Given the description of an element on the screen output the (x, y) to click on. 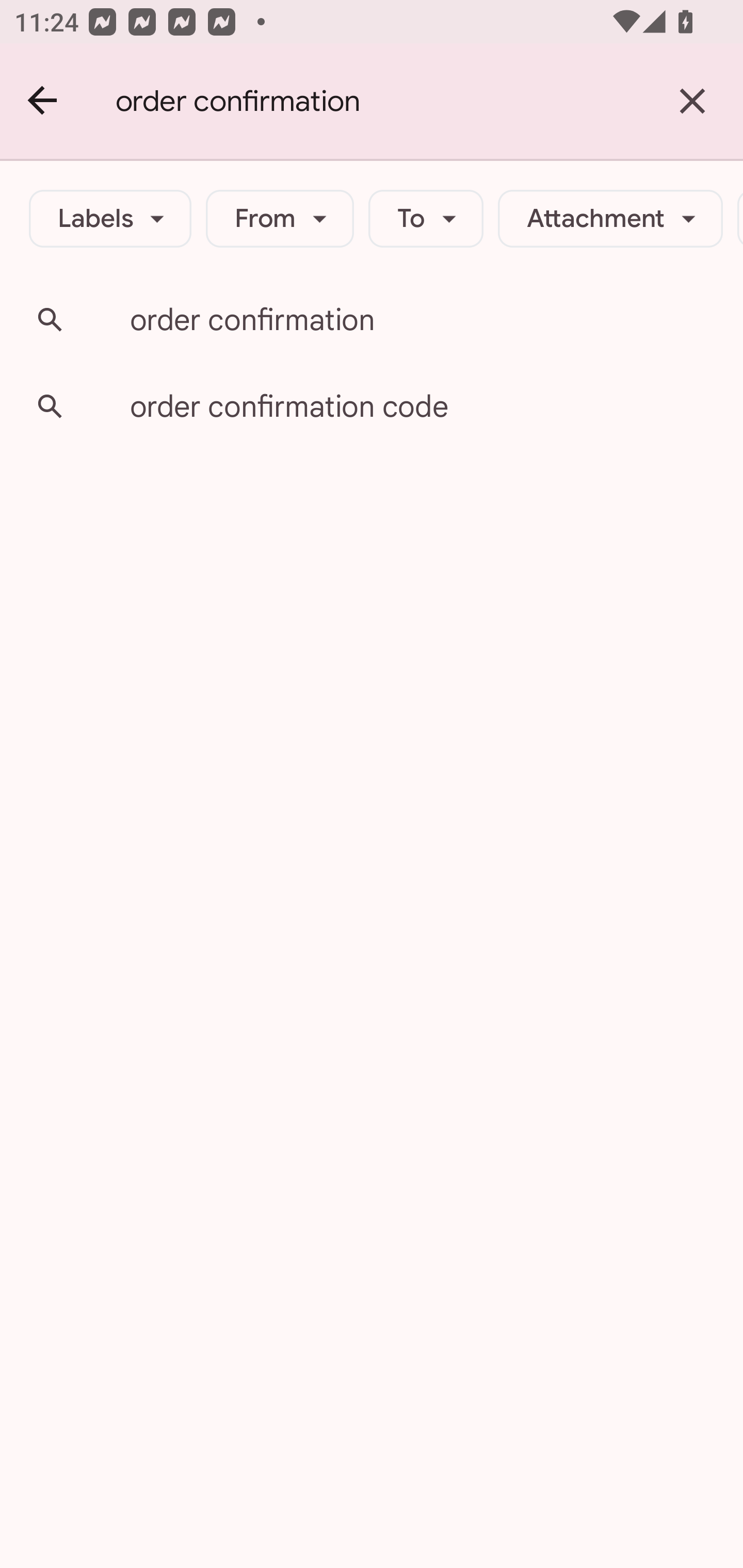
Back (43, 101)
order confirmation (378, 101)
Clear text (692, 101)
Labels (109, 218)
From (279, 218)
To (425, 218)
Attachment (609, 218)
order confirmation Suggestion: order confirmation (371, 319)
